Given the description of an element on the screen output the (x, y) to click on. 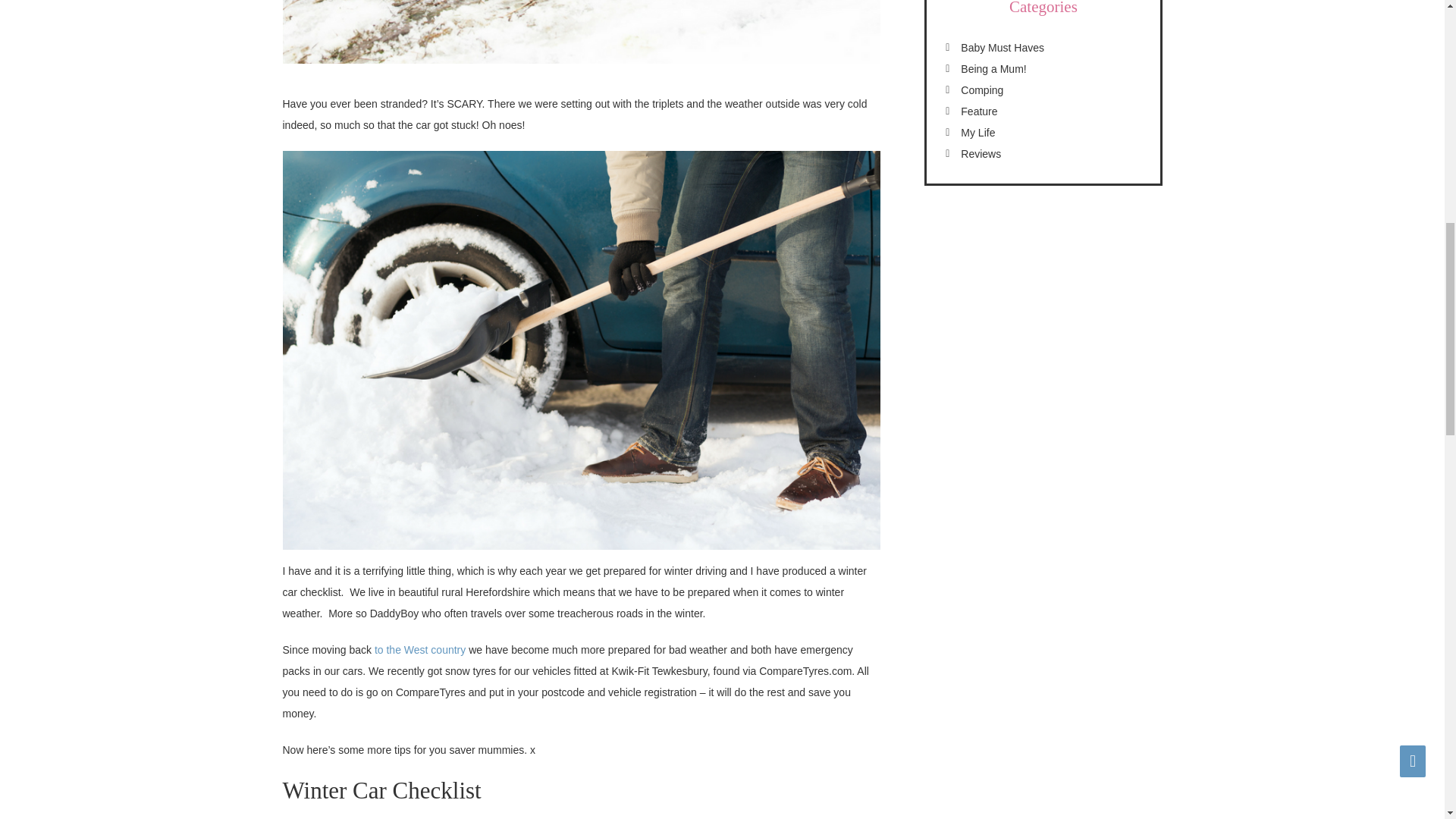
Baby Must Haves (1001, 47)
Being a Mum! (993, 69)
Comping (981, 90)
Feature (978, 111)
to the West country (421, 649)
